Given the description of an element on the screen output the (x, y) to click on. 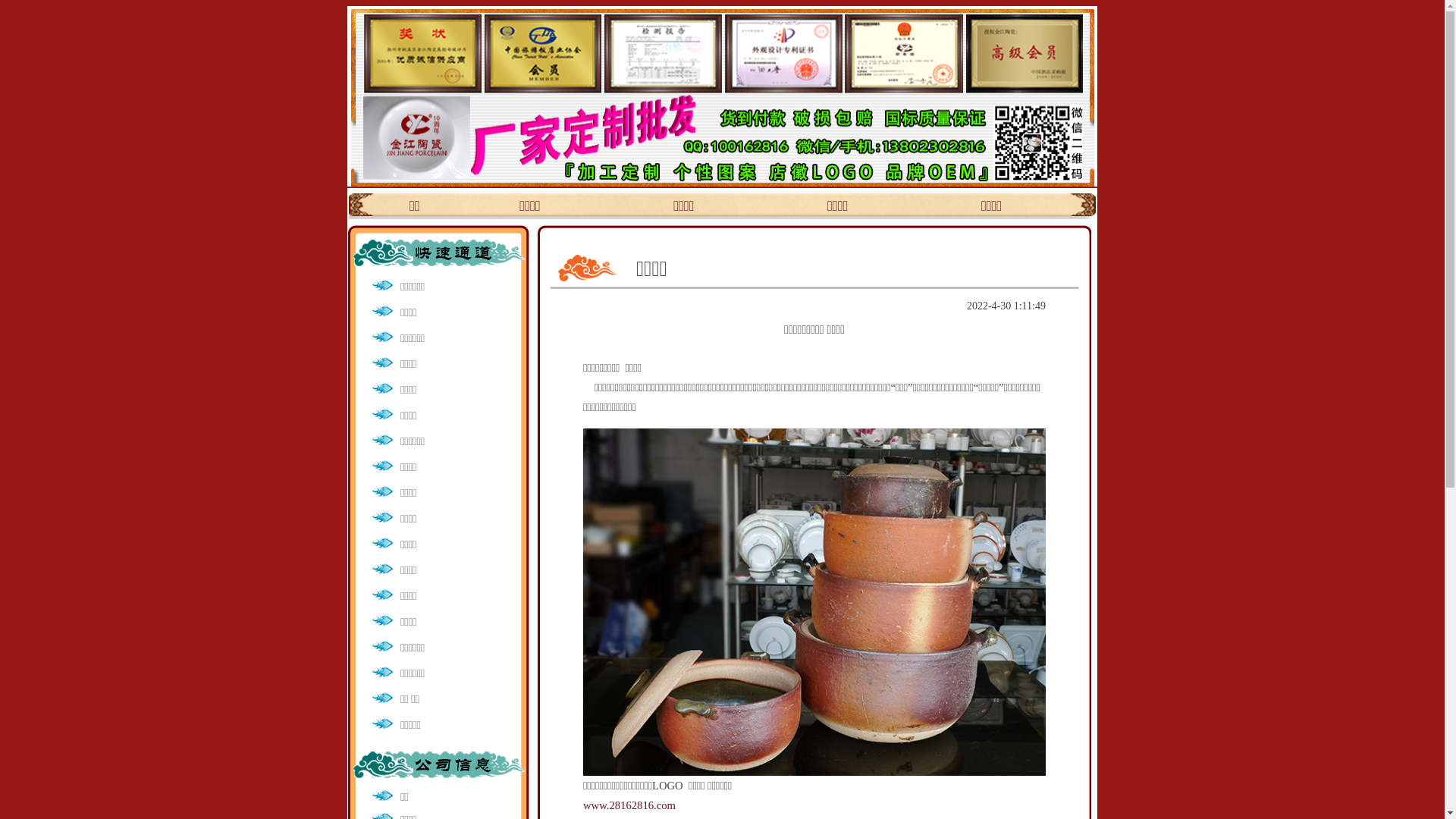
www.28162816.com Element type: text (629, 805)
